Given the description of an element on the screen output the (x, y) to click on. 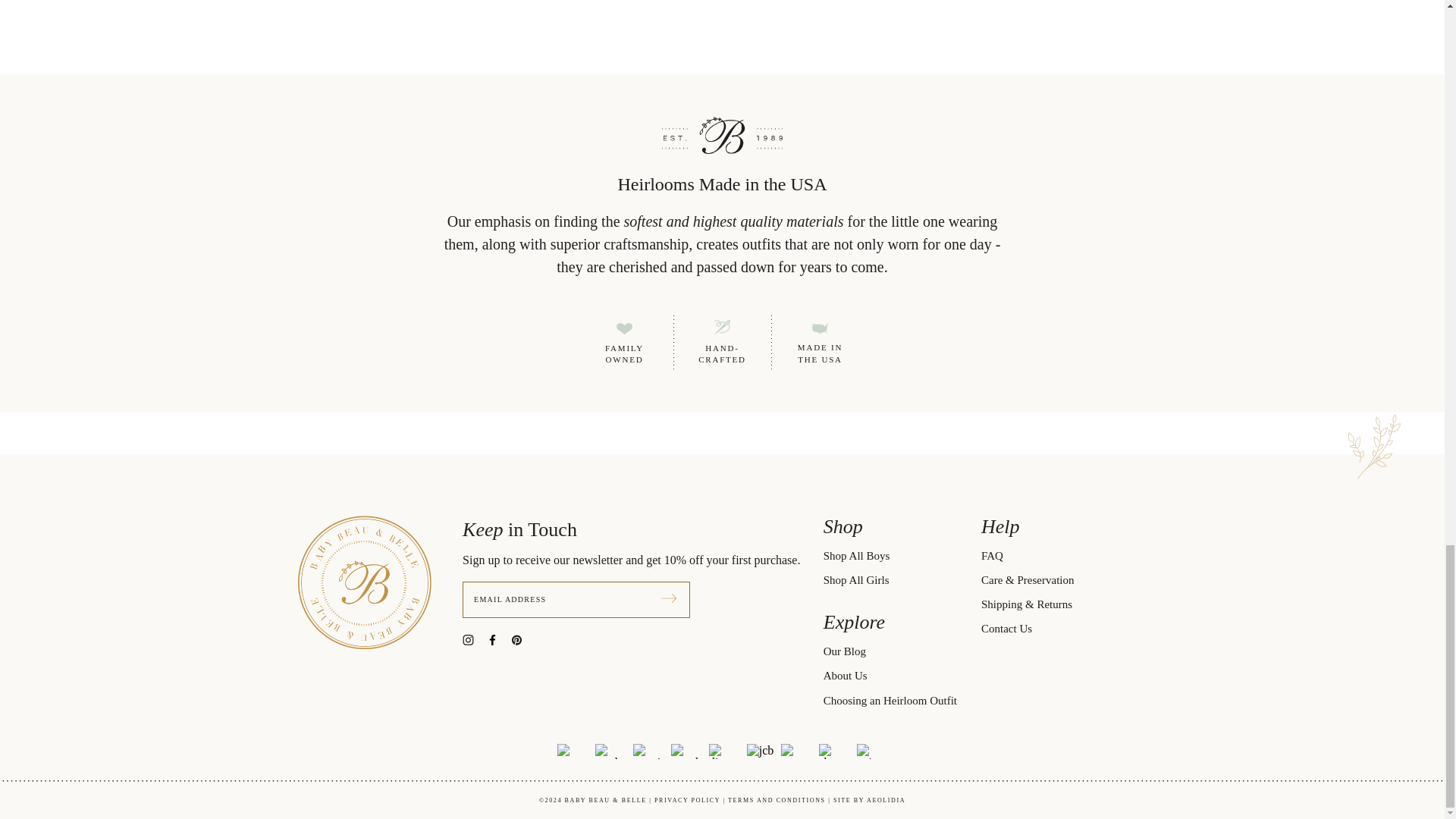
Baby Beau and Belle on Instagram (474, 638)
Baby Beau and Belle on Facebook (498, 638)
arrow icon (669, 597)
